Given the description of an element on the screen output the (x, y) to click on. 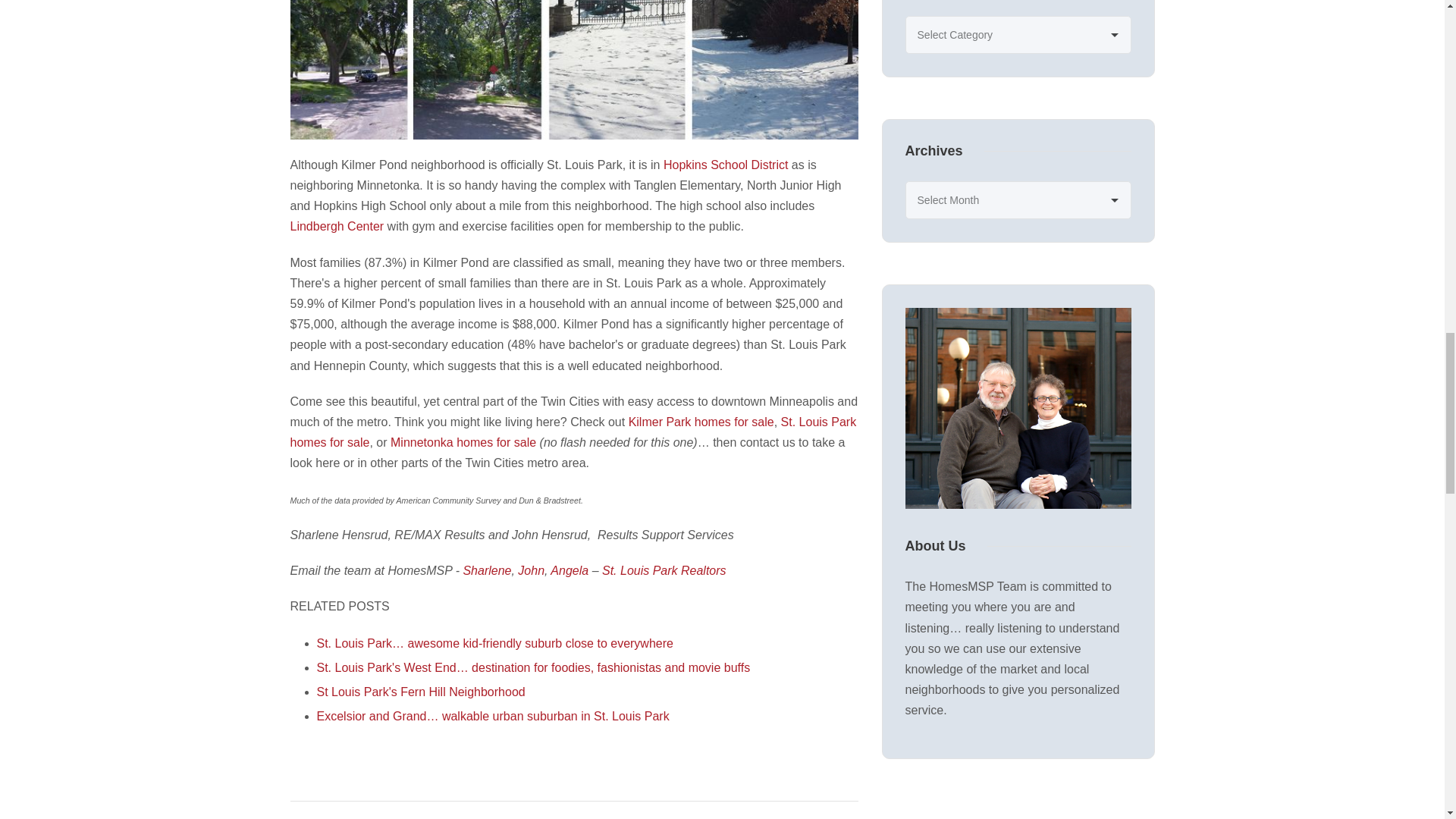
Kilmer-3 (574, 69)
